Given the description of an element on the screen output the (x, y) to click on. 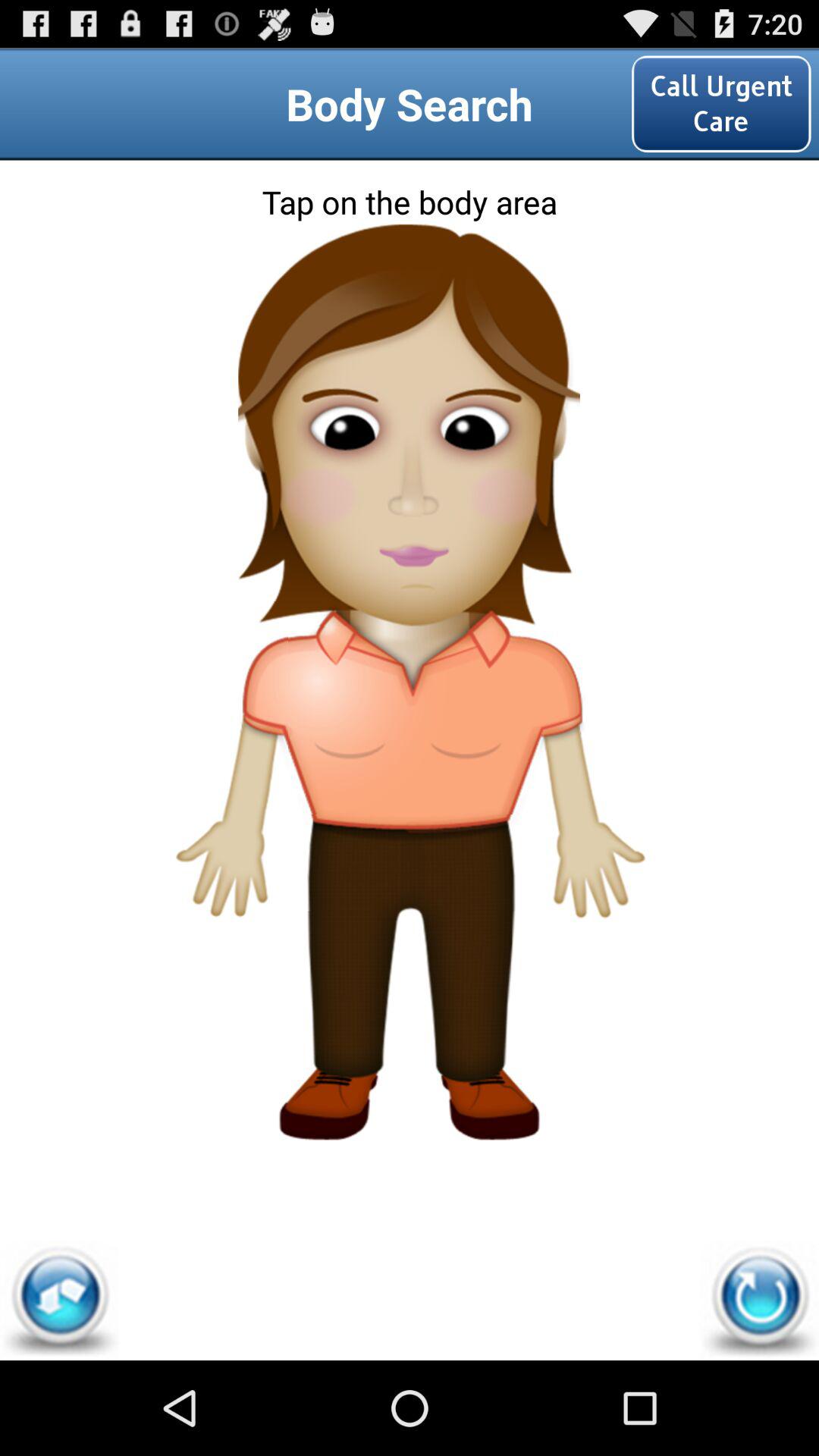
jump until call urgent care (721, 103)
